Given the description of an element on the screen output the (x, y) to click on. 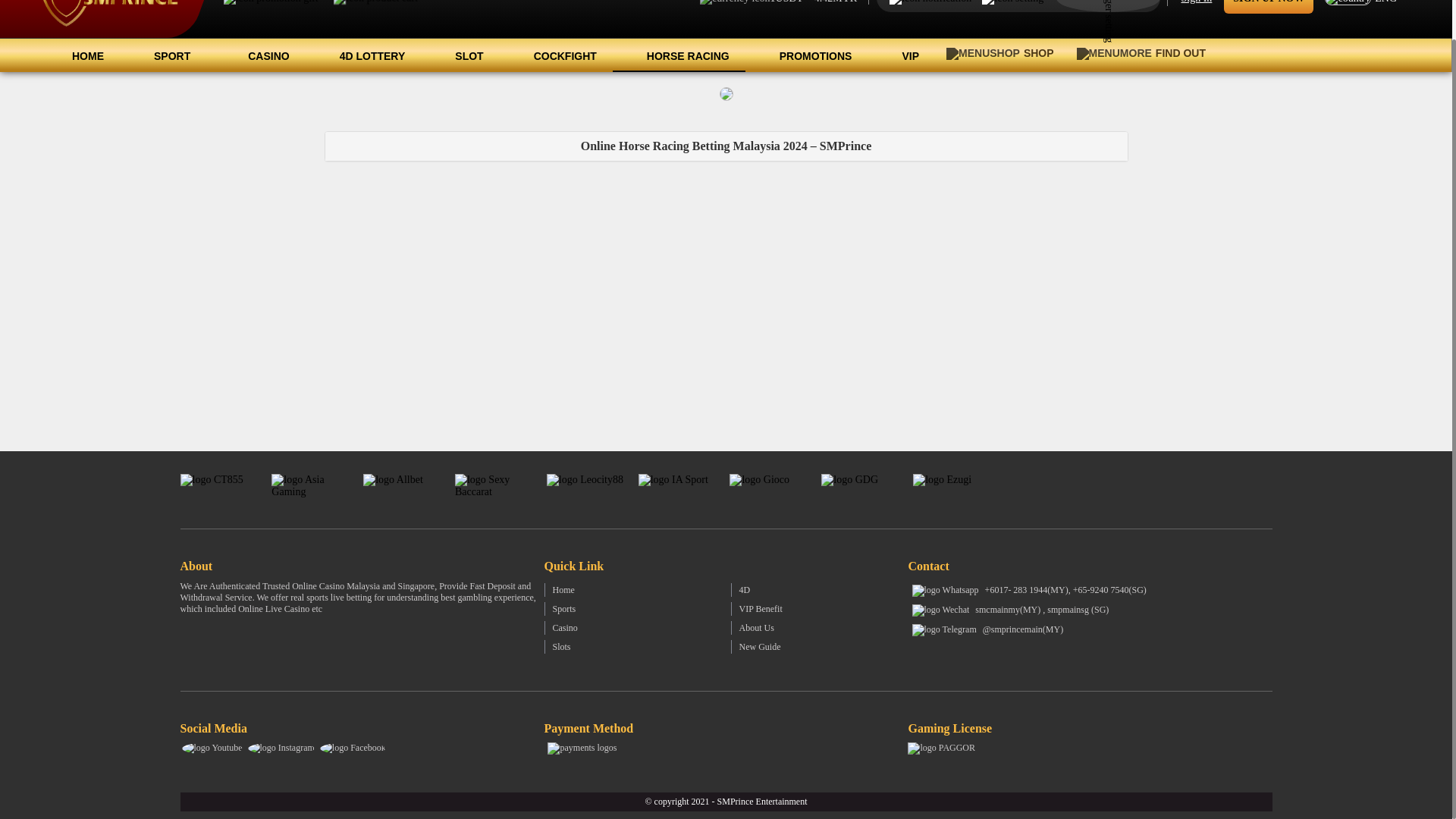
COCKFIGHT (555, 55)
HORSE RACING (678, 55)
FIND OUT (1144, 53)
SLOT (459, 55)
VIP (900, 55)
SPORT (166, 55)
SIGN UP NOW (1268, 6)
4D LOTTERY (363, 55)
SHOP (999, 53)
PROMOTIONS (806, 55)
